Given the description of an element on the screen output the (x, y) to click on. 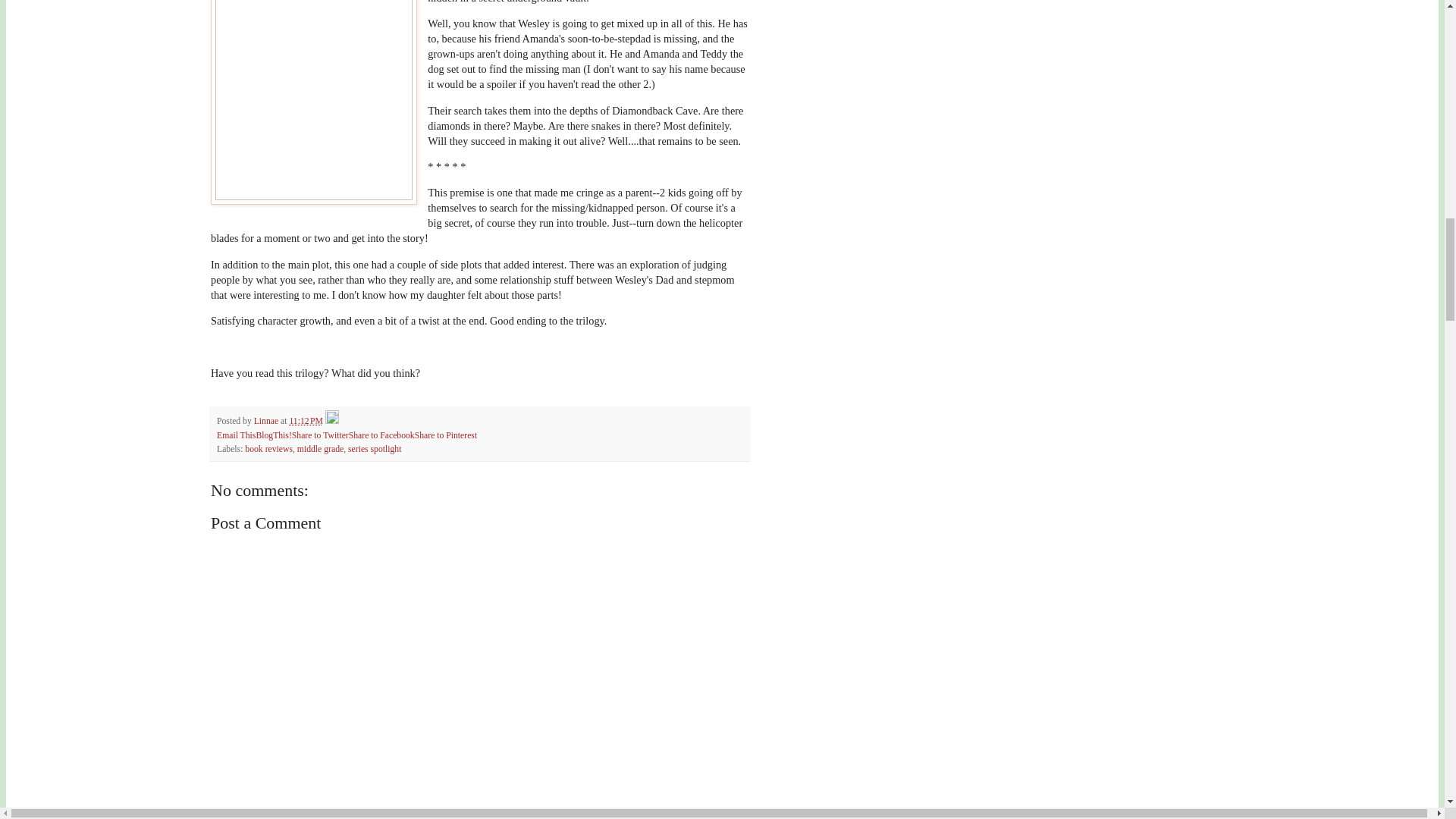
Share to Twitter (320, 435)
Share to Pinterest (445, 435)
Edit Post (331, 420)
BlogThis! (273, 435)
author profile (267, 420)
series spotlight (374, 449)
Linnae (267, 420)
Share to Twitter (320, 435)
book reviews (268, 449)
middle grade (320, 449)
Share to Facebook (381, 435)
Email This (236, 435)
Email This (236, 435)
BlogThis! (273, 435)
